Given the description of an element on the screen output the (x, y) to click on. 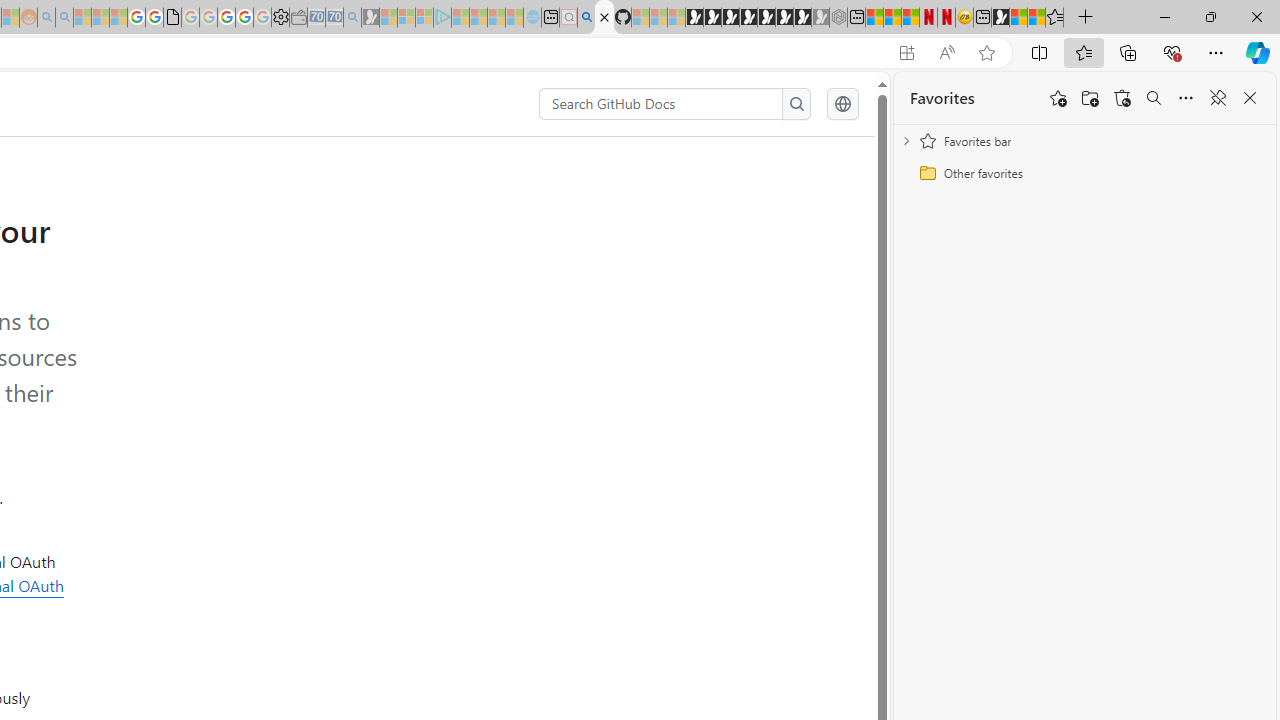
Add folder (1089, 98)
Restore deleted favorites (1122, 98)
Search favorites (1153, 98)
Utah sues federal government - Search - Sleeping (64, 17)
